Given the description of an element on the screen output the (x, y) to click on. 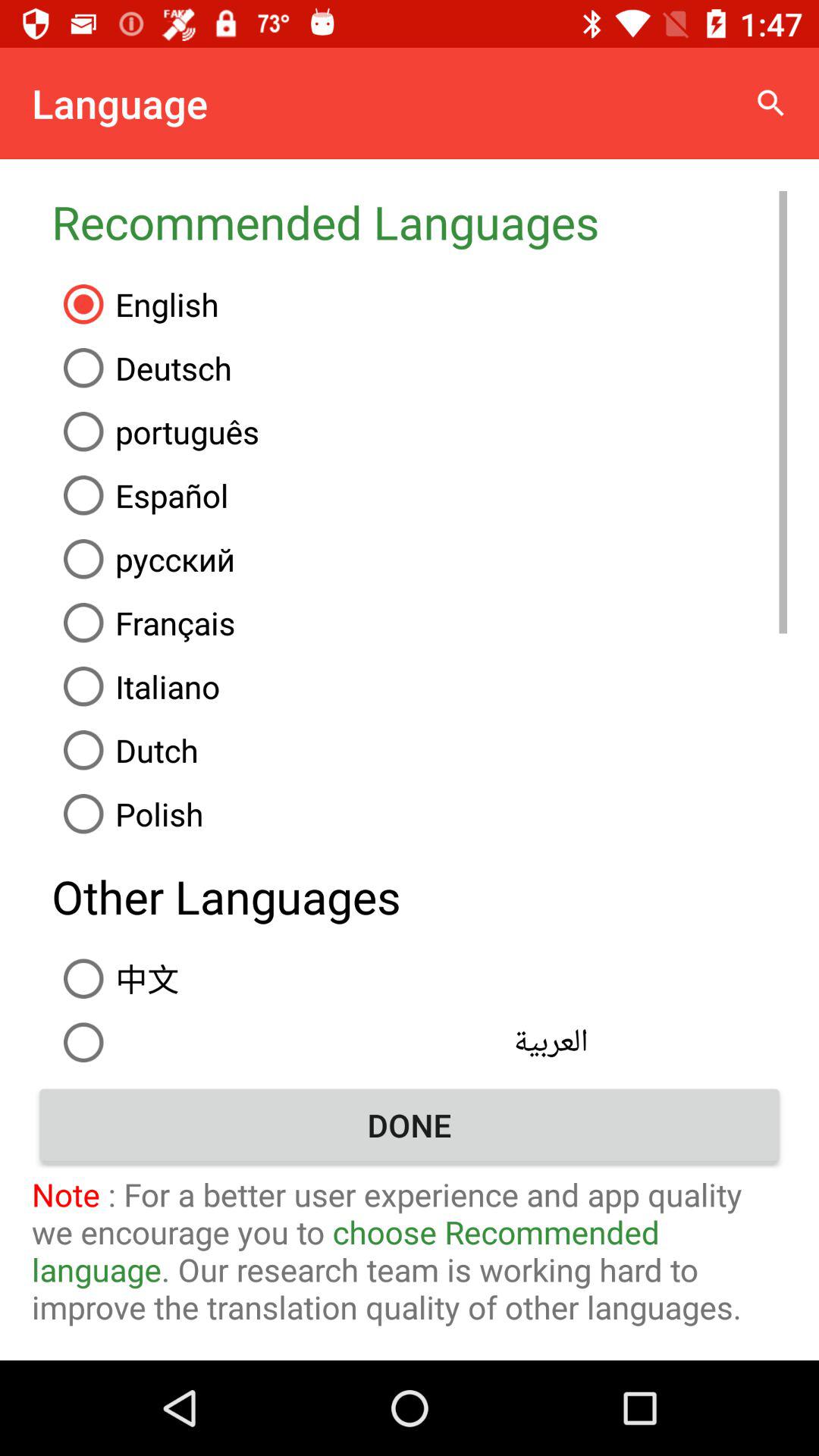
turn off done item (409, 1124)
